Given the description of an element on the screen output the (x, y) to click on. 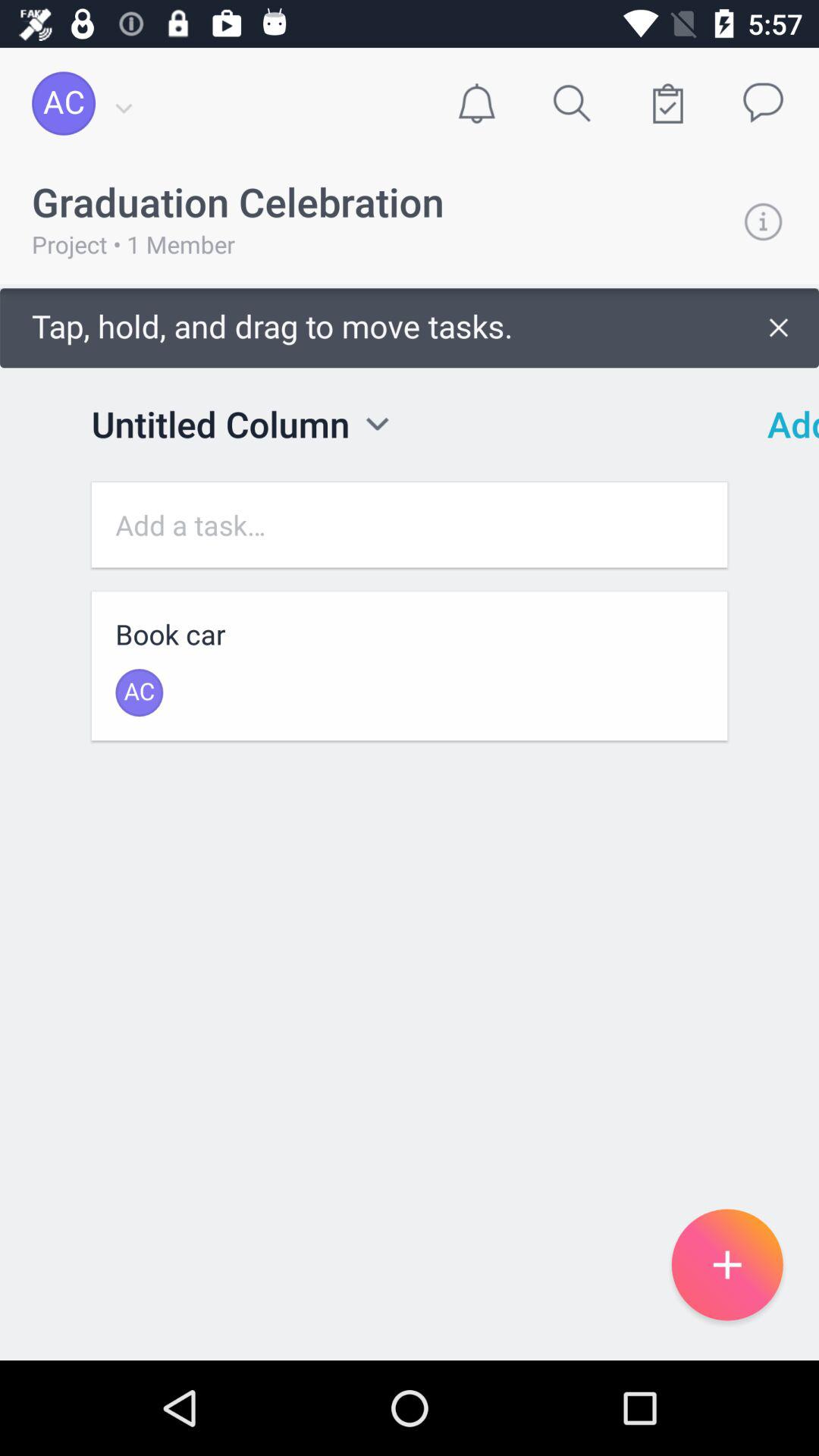
open the icon next to the untitled column item (377, 423)
